Given the description of an element on the screen output the (x, y) to click on. 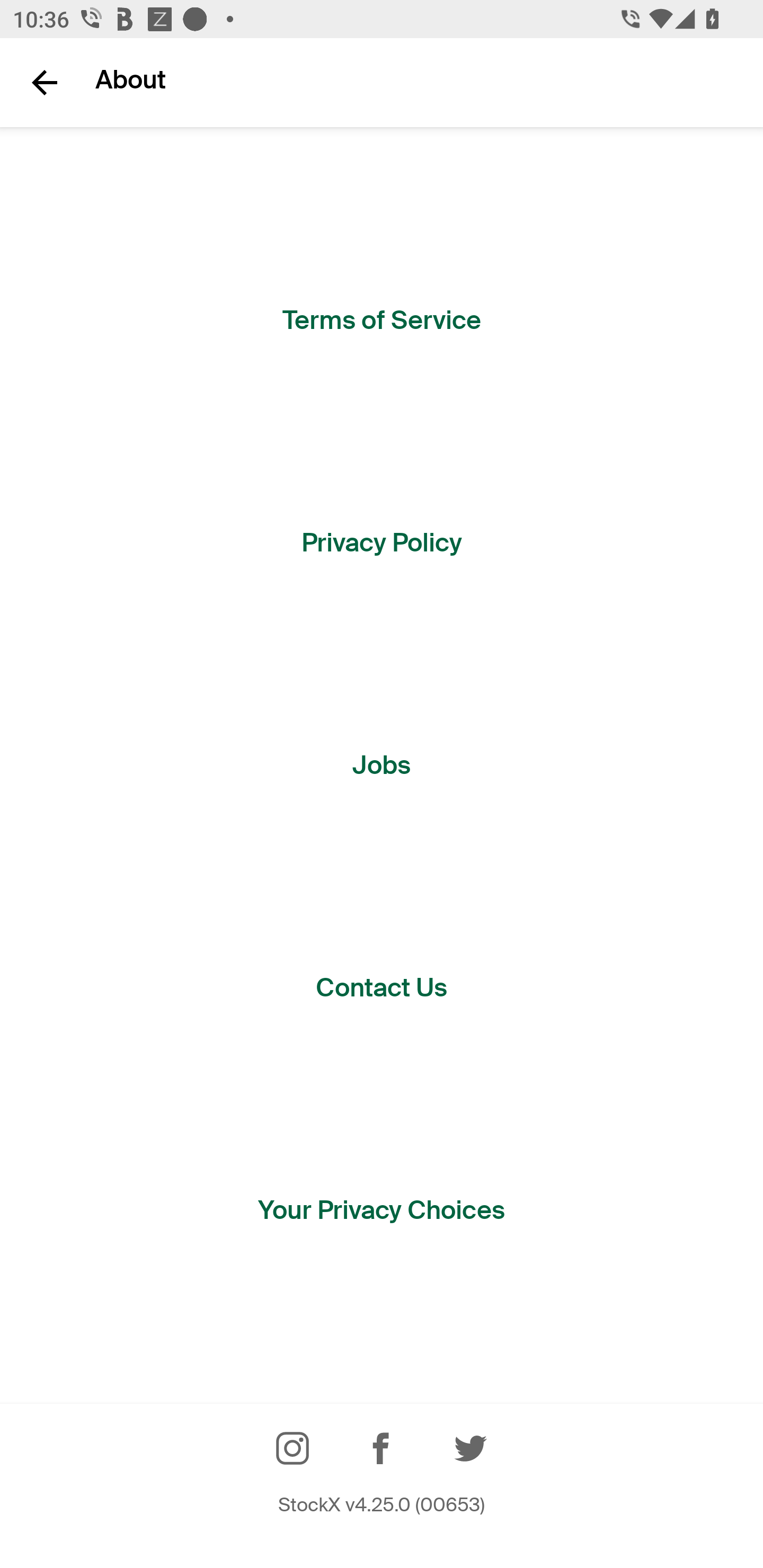
Navigate up (44, 82)
Terms of Service (381, 320)
Privacy Policy (381, 543)
Jobs (381, 765)
Contact Us (381, 987)
Your Privacy Choices (381, 1210)
Instagram Icon (292, 1447)
Facebook Icon (381, 1447)
Twitter Icon (470, 1447)
